Given the description of an element on the screen output the (x, y) to click on. 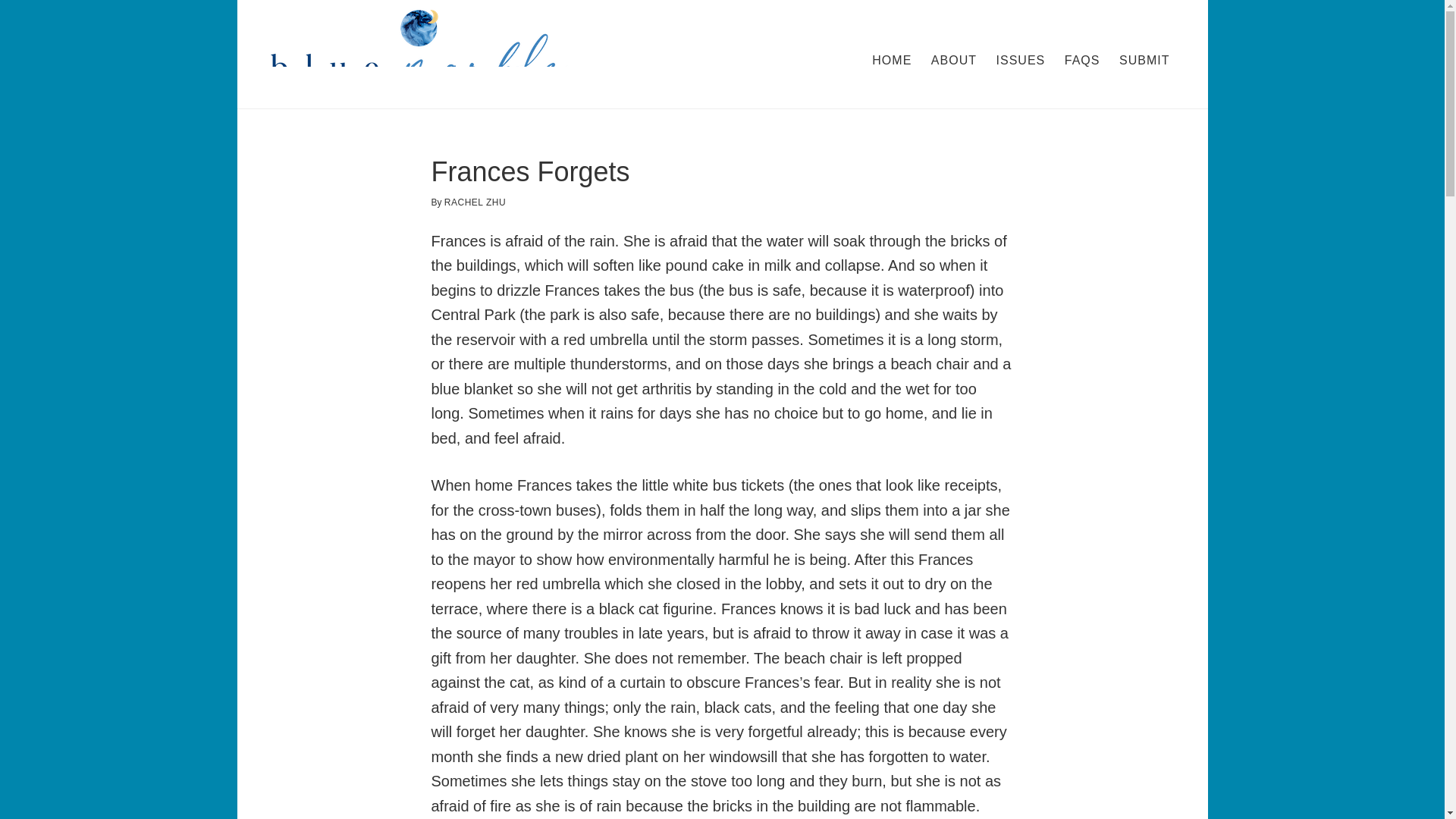
ABOUT (953, 60)
HOME (891, 60)
SUBMIT (1144, 60)
FAQS (1082, 60)
ISSUES (1020, 60)
BLUE MARBLE REVIEW (418, 55)
